Given the description of an element on the screen output the (x, y) to click on. 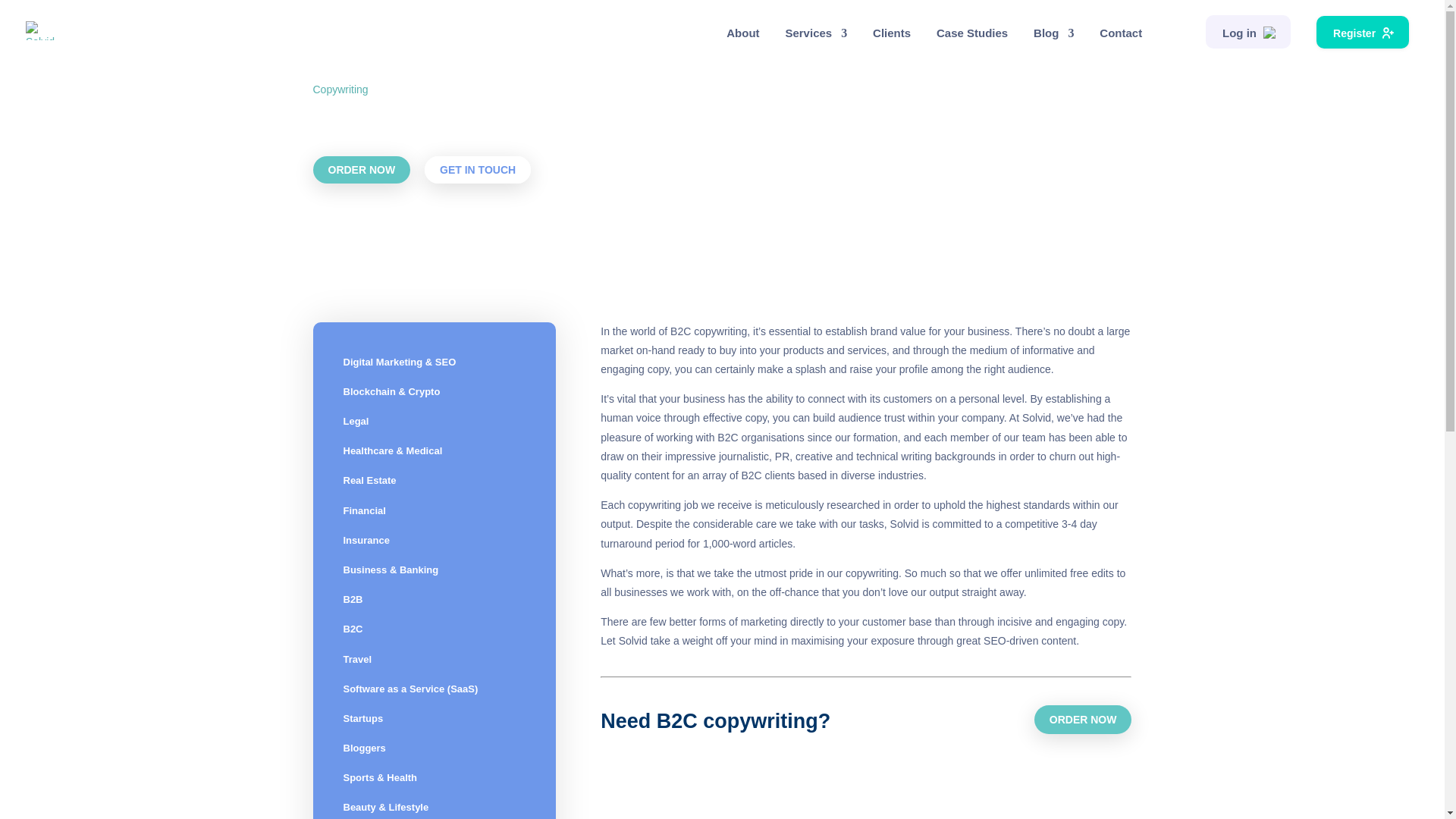
Register (1362, 31)
ORDER NOW (361, 169)
Log in (1247, 31)
Case Studies (971, 37)
GET IN TOUCH (478, 169)
Services (815, 44)
Clients (891, 37)
Contact (1120, 37)
About (742, 37)
Blog (1053, 44)
Copywriting (340, 89)
